Given the description of an element on the screen output the (x, y) to click on. 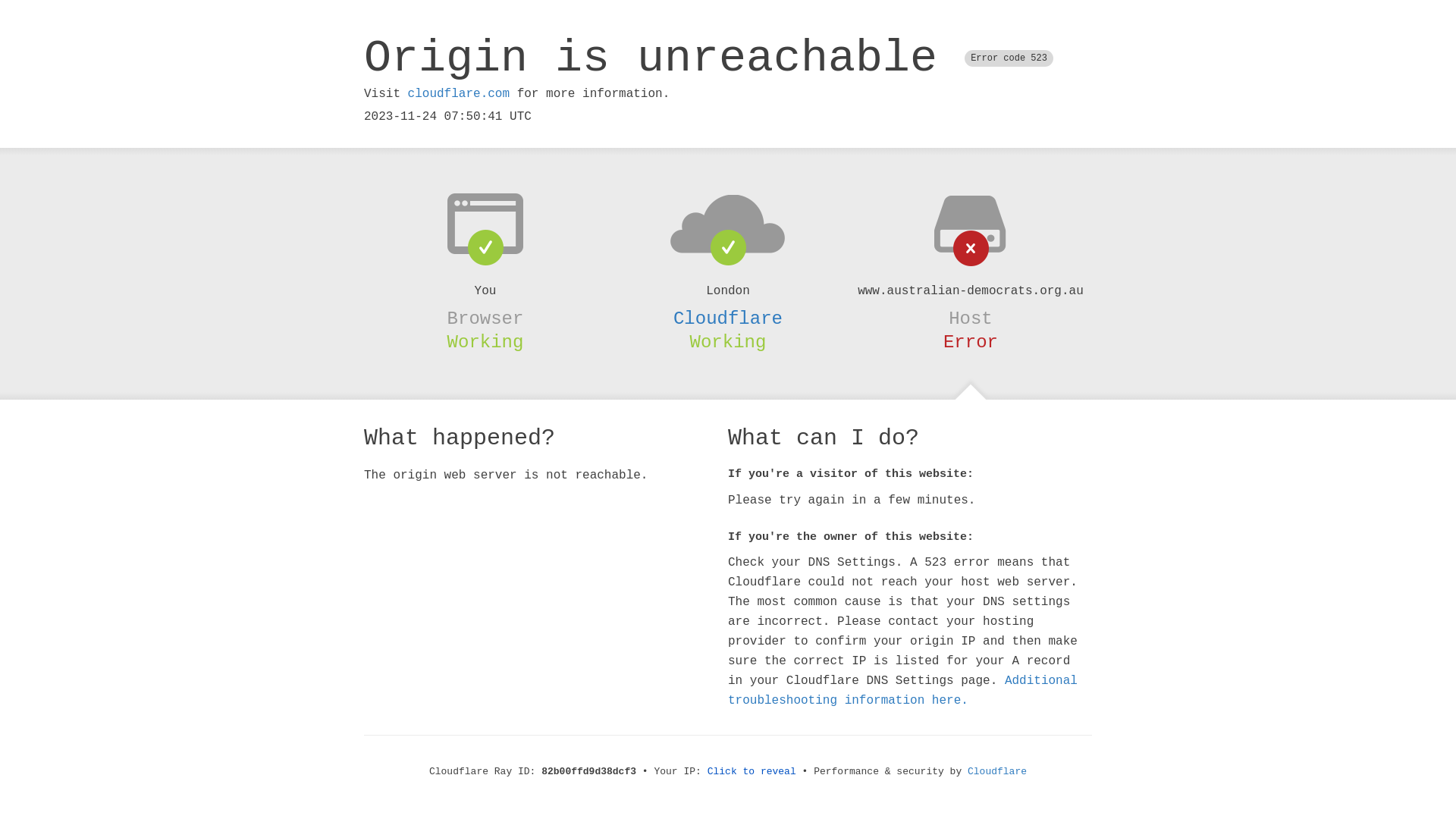
Cloudflare Element type: text (996, 771)
Cloudflare Element type: text (727, 318)
Click to reveal Element type: text (751, 771)
Additional troubleshooting information here. Element type: text (902, 690)
cloudflare.com Element type: text (458, 93)
